Given the description of an element on the screen output the (x, y) to click on. 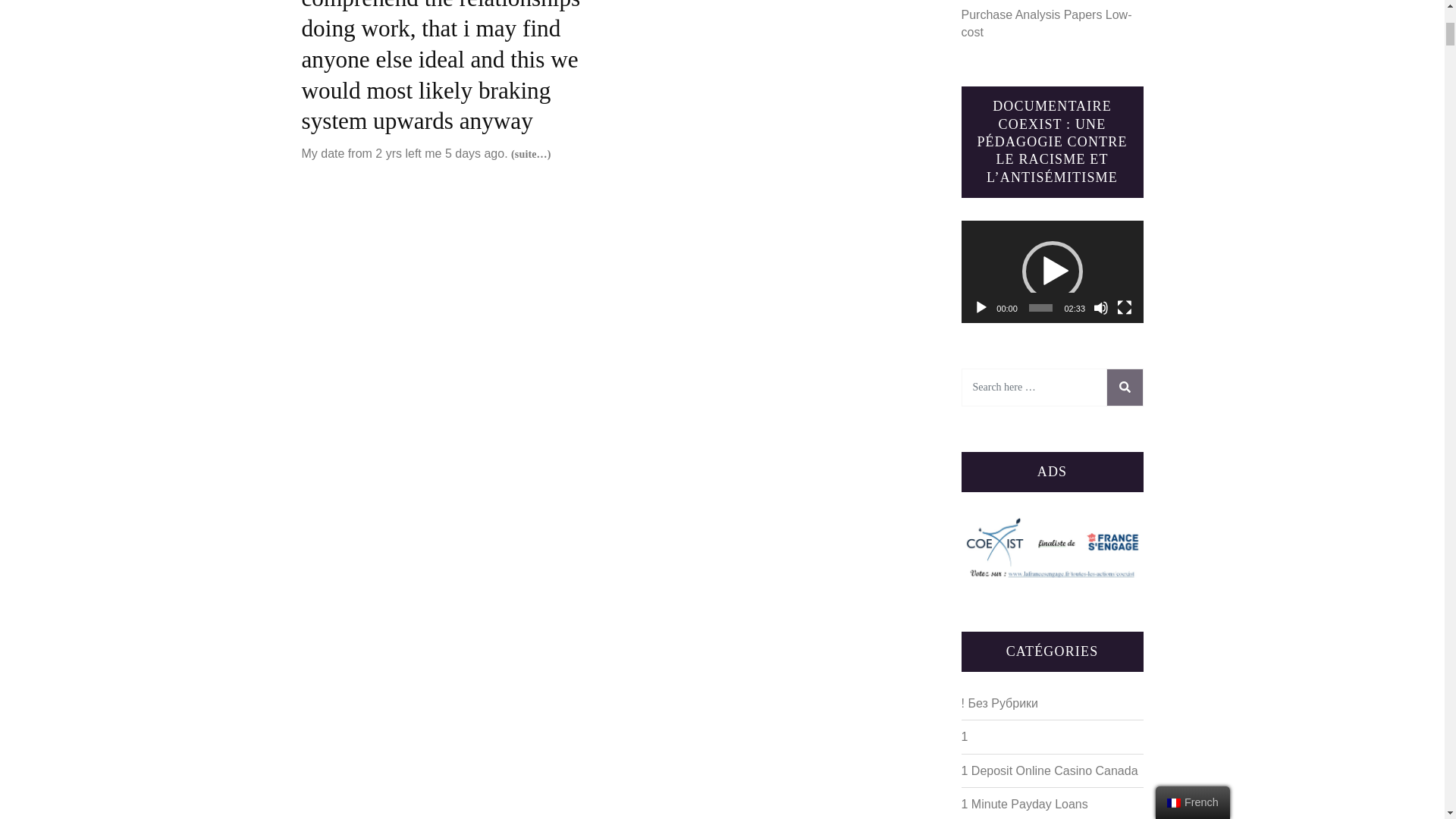
1 (964, 736)
Muet (1100, 307)
Purchase Analysis Papers Low-cost (1046, 23)
1 Deposit Online Casino Canada (1049, 770)
Lecture (981, 307)
1 Minute Payday Loans (1023, 803)
